Given the description of an element on the screen output the (x, y) to click on. 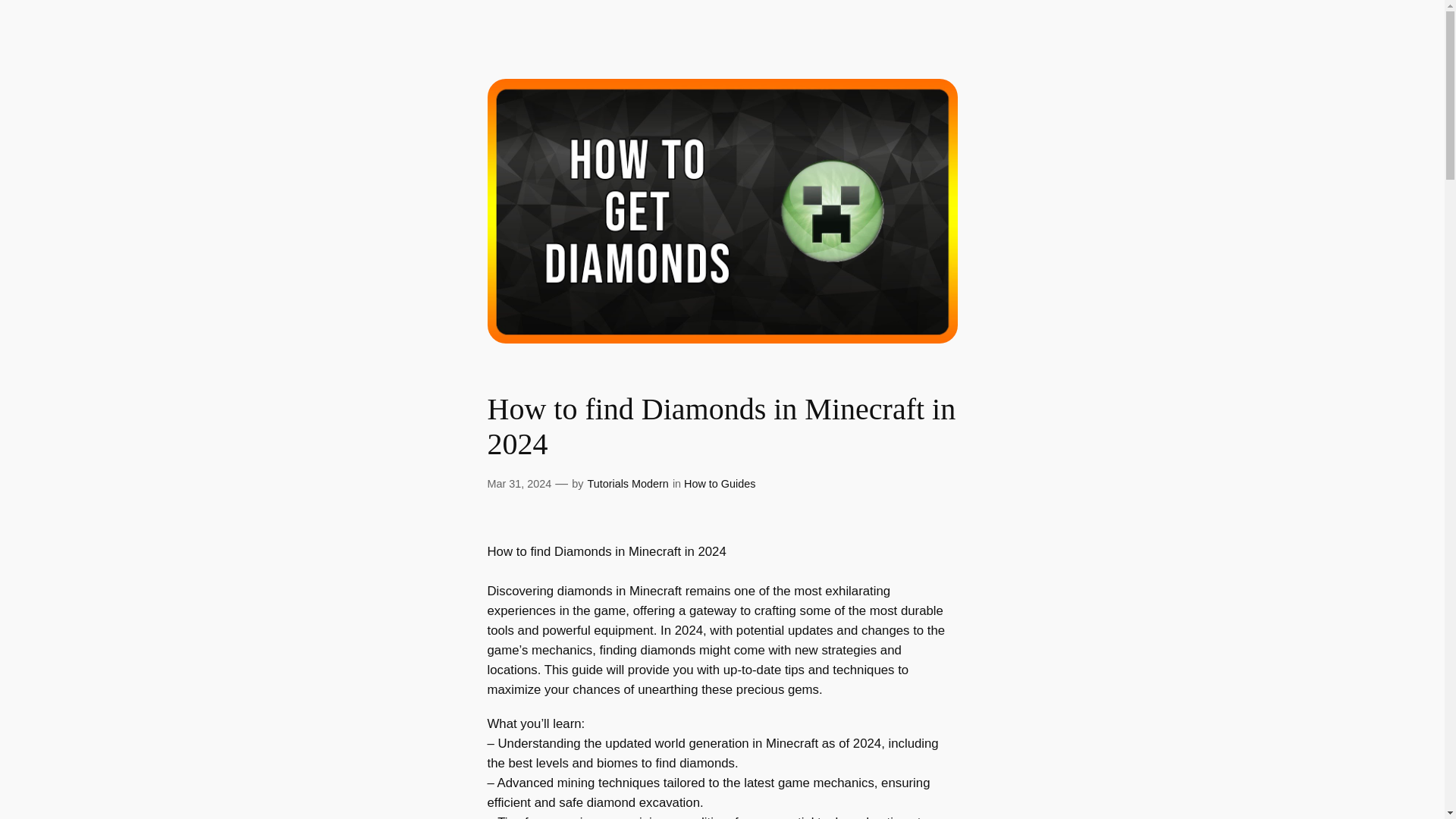
Mar 31, 2024 (518, 483)
Tutorials Modern (627, 483)
How to Guides (719, 483)
